Given the description of an element on the screen output the (x, y) to click on. 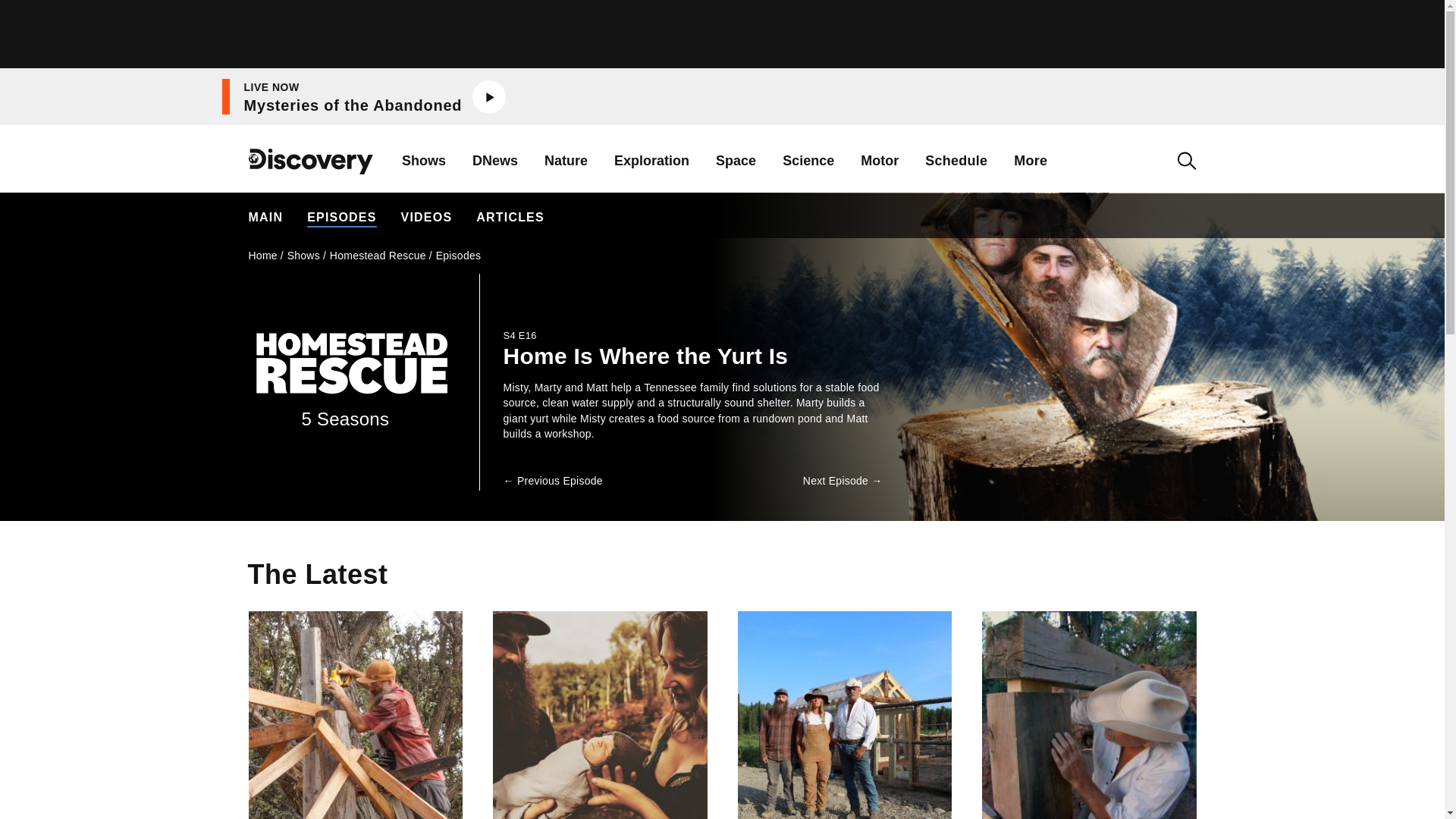
home (310, 173)
DNews (353, 96)
Shows (494, 161)
3rd party ad content (423, 161)
